Given the description of an element on the screen output the (x, y) to click on. 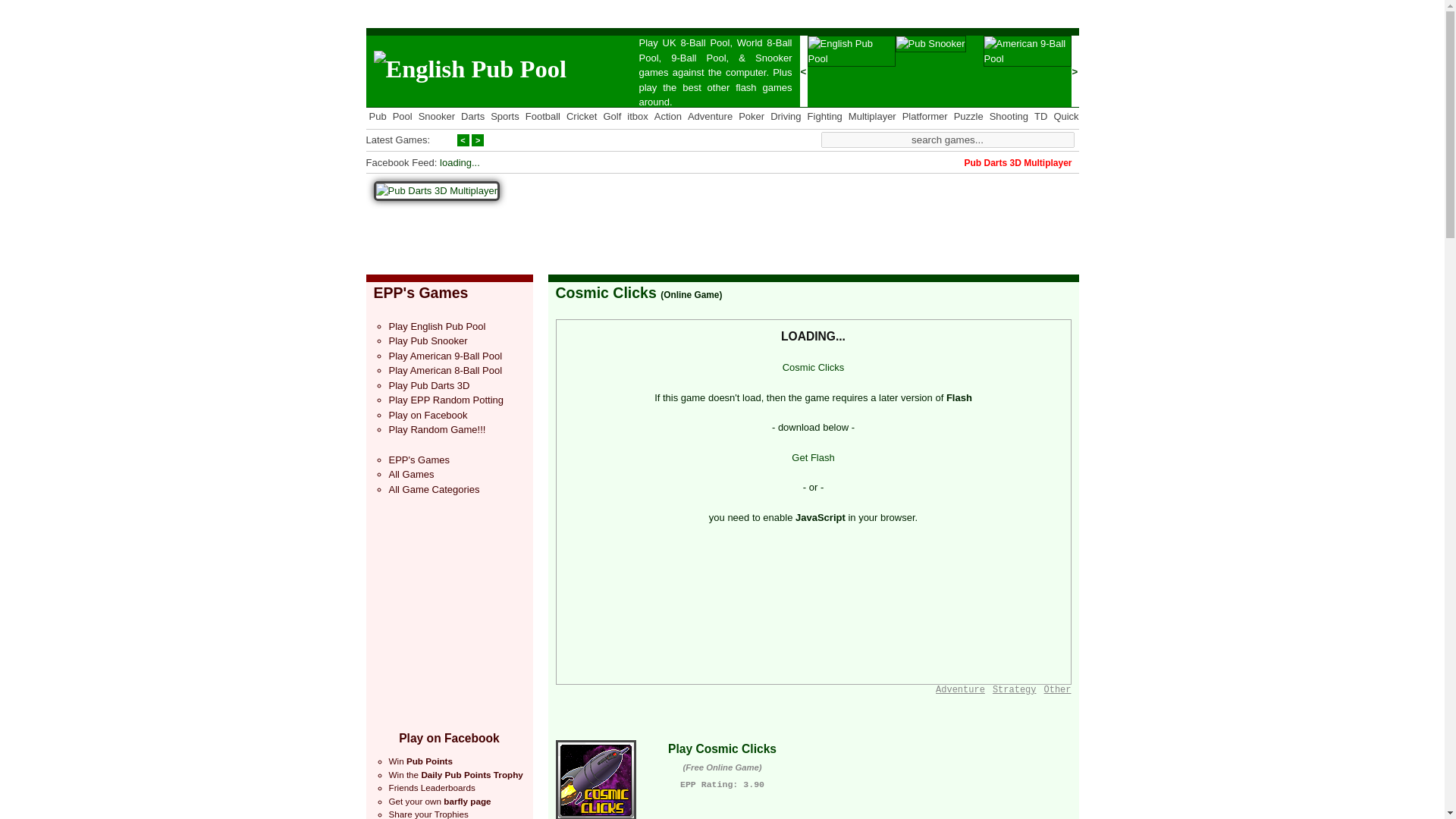
Fighting (825, 116)
Quick (1065, 116)
Puzzle (968, 116)
Facebook Feed: (400, 162)
Pub (376, 116)
Cricket (581, 116)
Play Pub Games (376, 116)
World 8-Ball Pool (715, 49)
Adventure (709, 116)
English Pub Pool (469, 69)
UK 8-Ball Pool (696, 42)
Play English Pub Pool (850, 58)
Action (667, 116)
Darts (472, 116)
Play American 9-Ball Pool (698, 57)
